Given the description of an element on the screen output the (x, y) to click on. 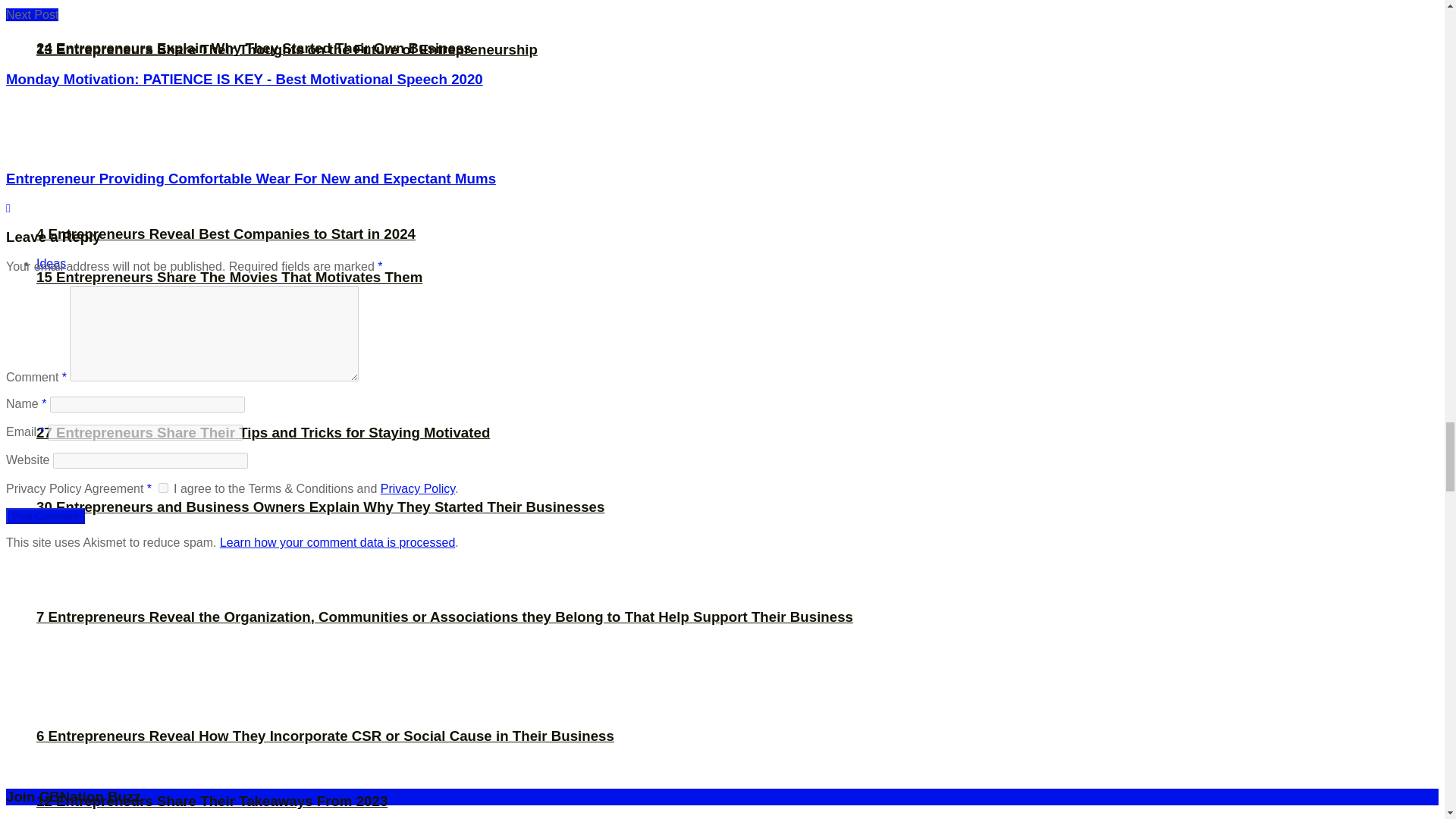
Post Comment (44, 515)
on (163, 488)
